Given the description of an element on the screen output the (x, y) to click on. 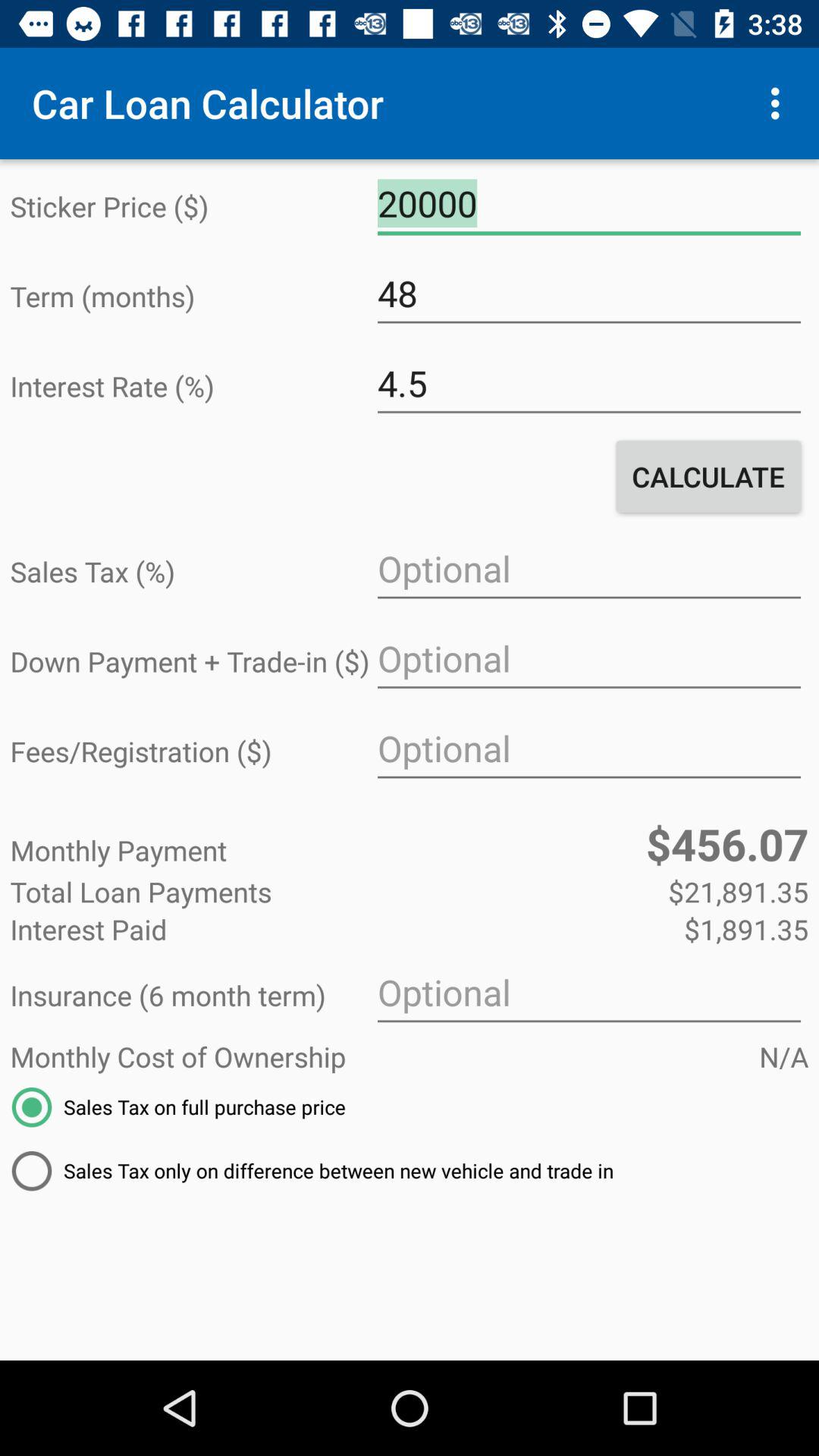
open icon below the 4.5 icon (707, 476)
